Given the description of an element on the screen output the (x, y) to click on. 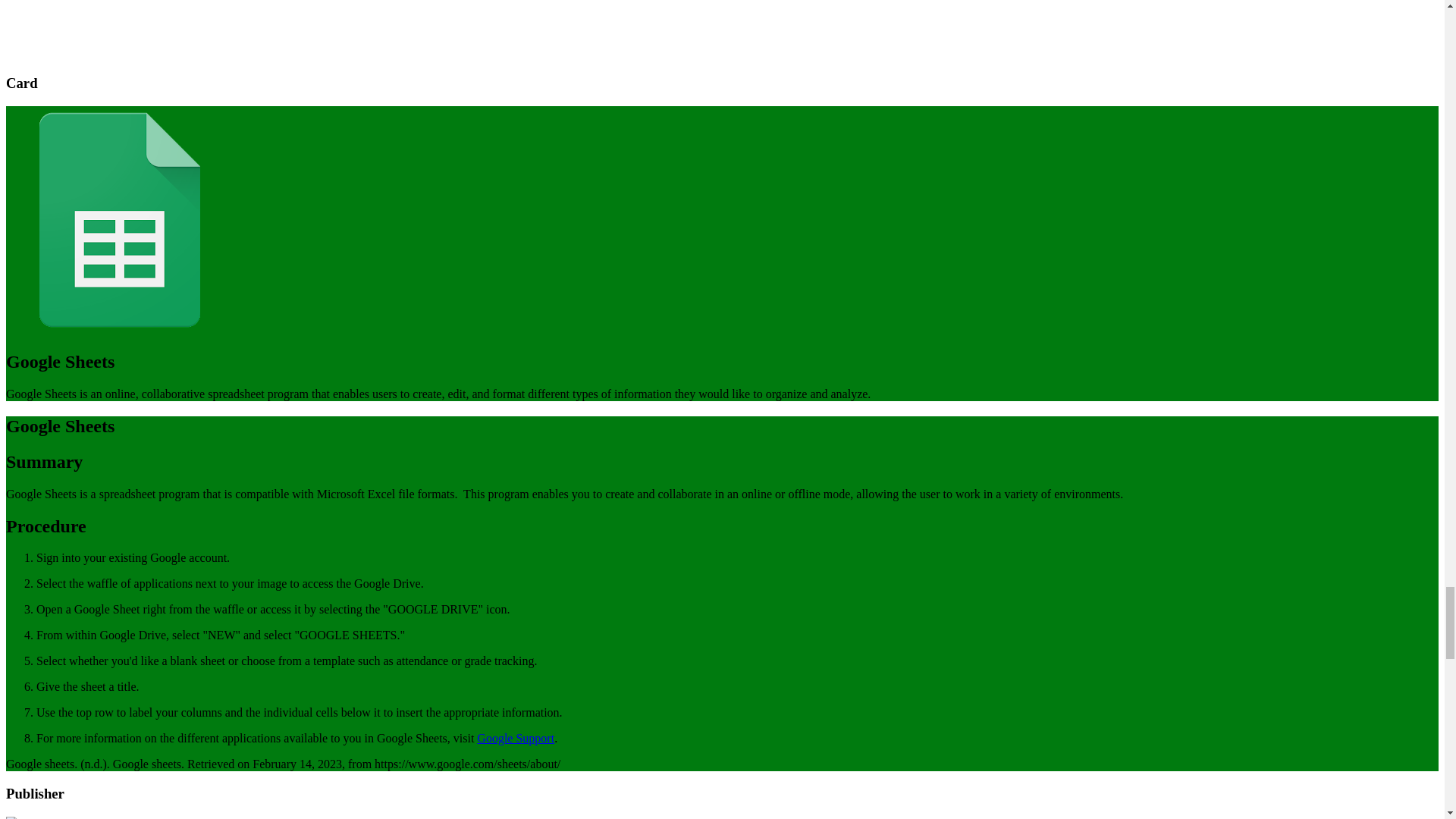
Google Support (515, 738)
